Given the description of an element on the screen output the (x, y) to click on. 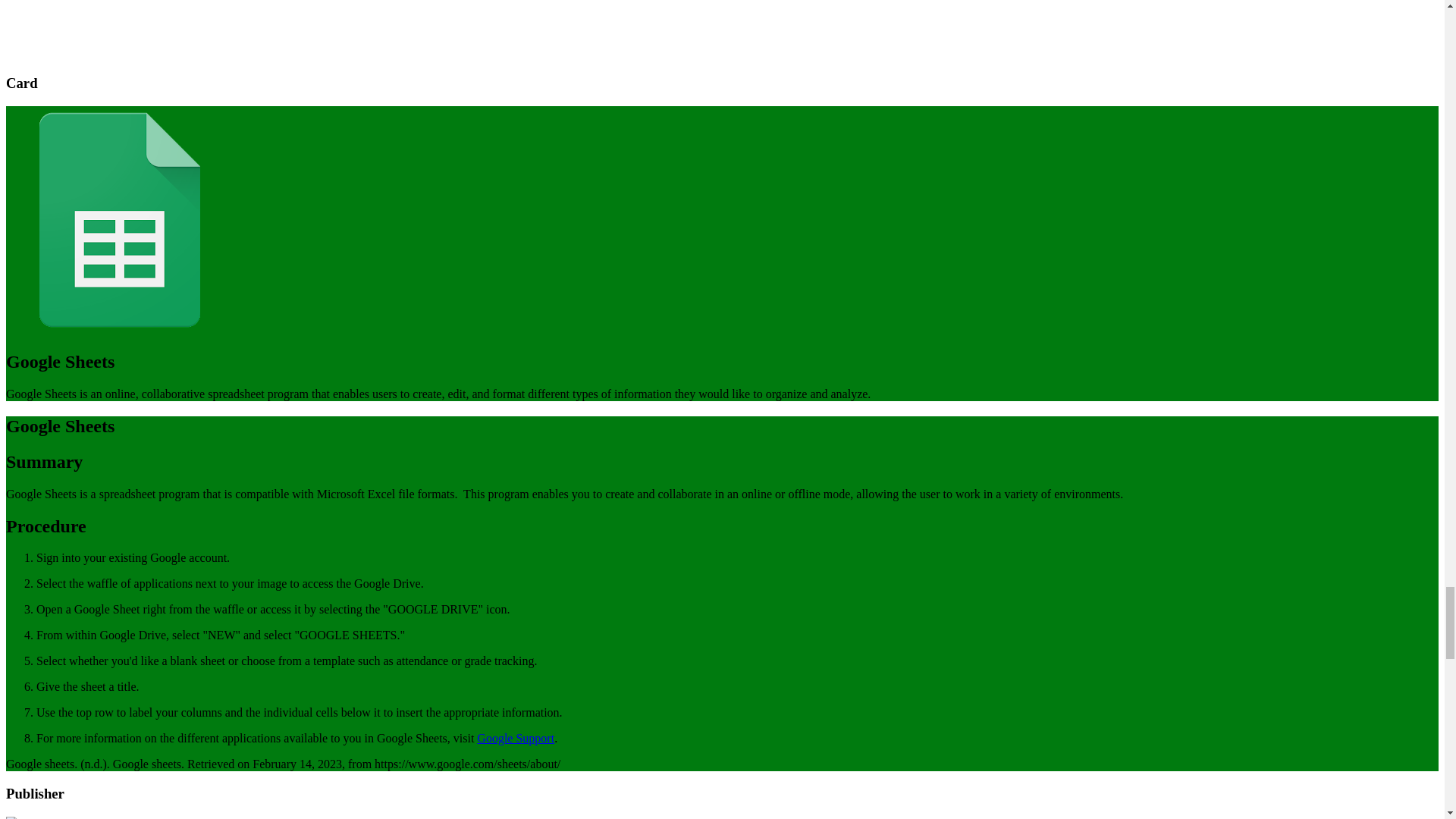
Google Support (515, 738)
